Given the description of an element on the screen output the (x, y) to click on. 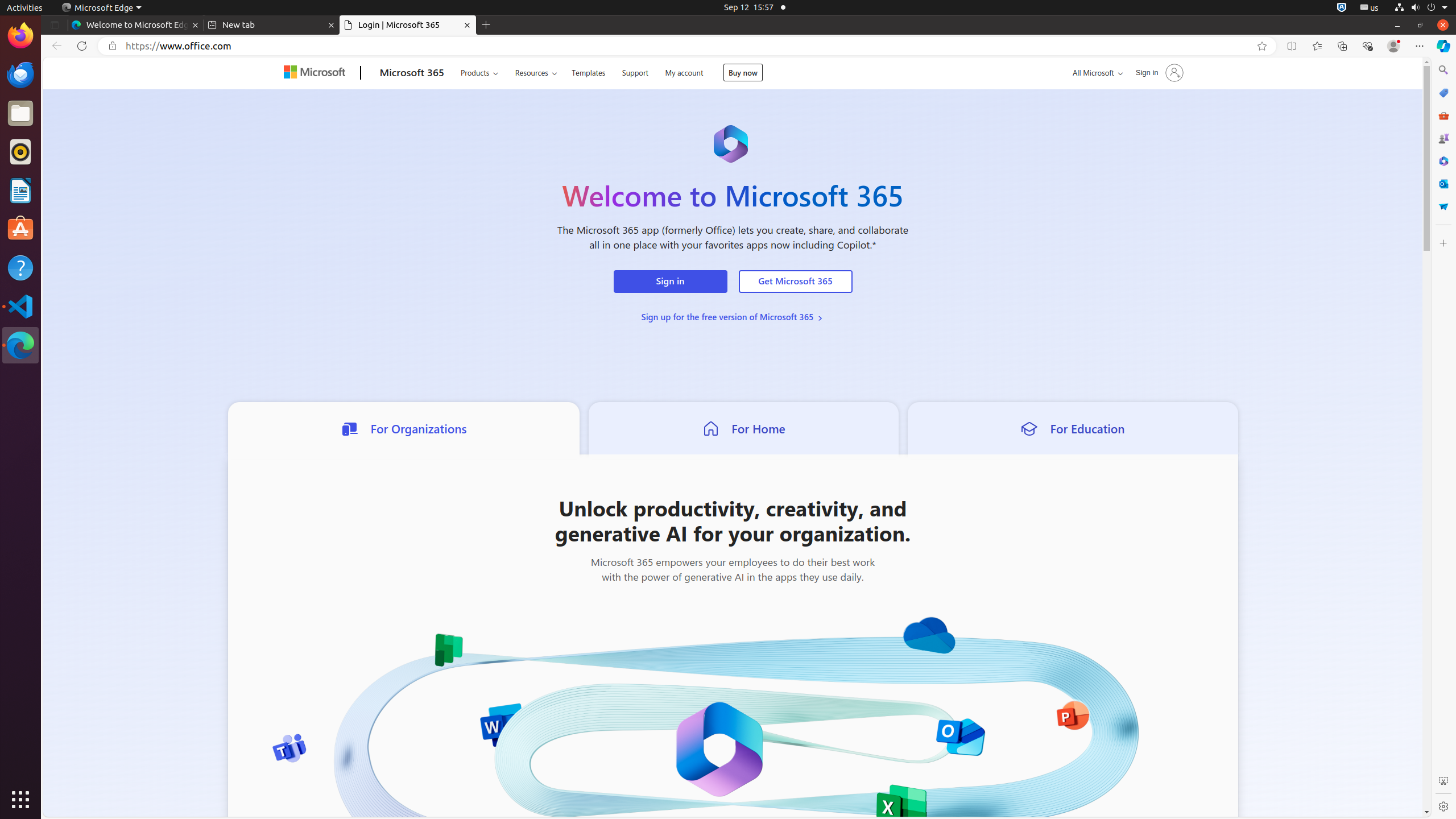
New tab Element type: page-tab (271, 25)
Close tab Element type: push-button (195, 25)
Customize Element type: push-button (1443, 243)
Settings and more (Alt+F) Element type: push-button (1419, 45)
Microsoft Edge Element type: menu (101, 7)
